Given the description of an element on the screen output the (x, y) to click on. 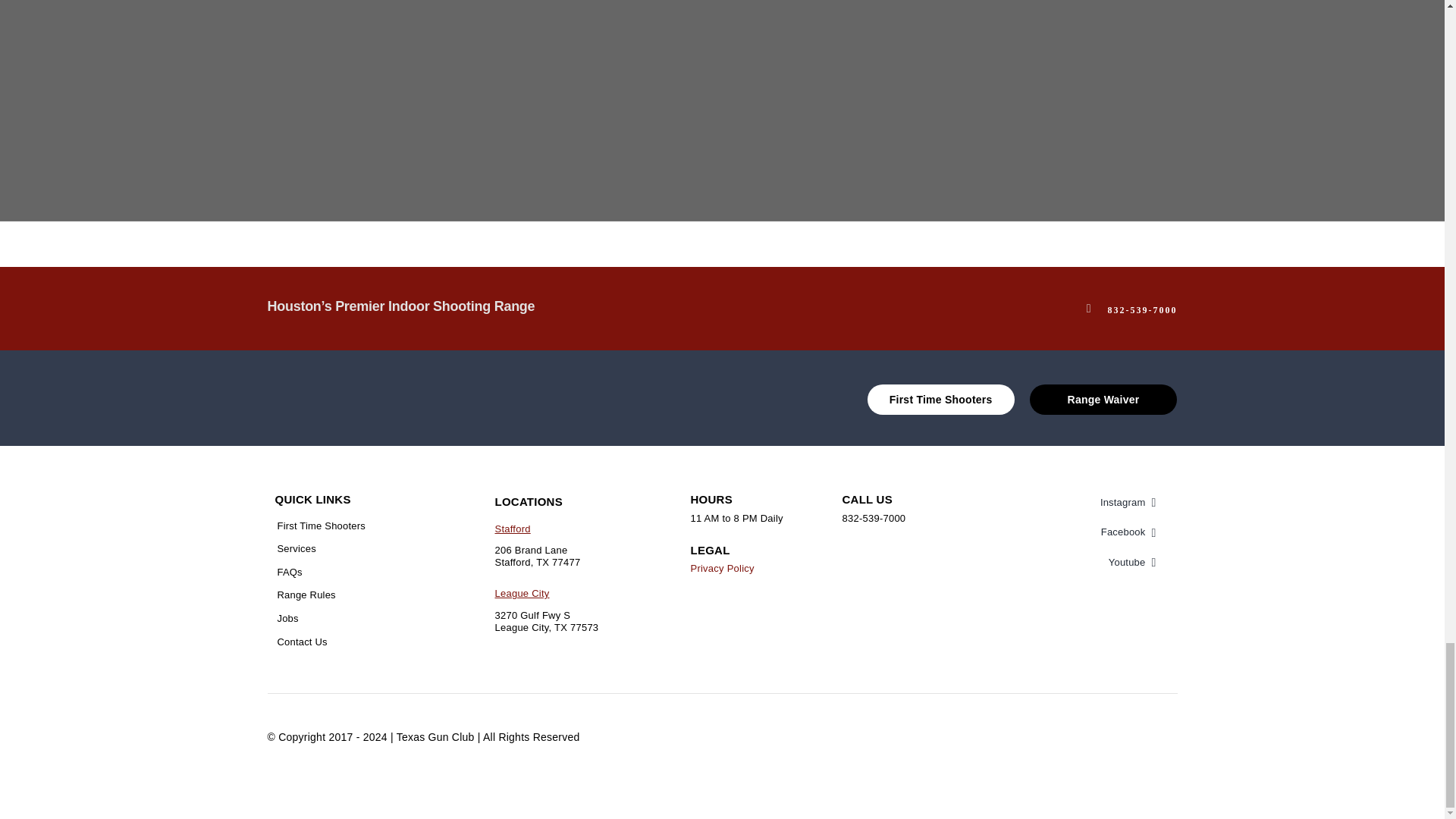
Jobs (357, 612)
First Time Shooters (357, 520)
Range Waiver (1103, 399)
First Time Shooters (940, 399)
FAQs (357, 566)
Services (357, 543)
Contact Us (357, 636)
Range Rules (357, 589)
